Given the description of an element on the screen output the (x, y) to click on. 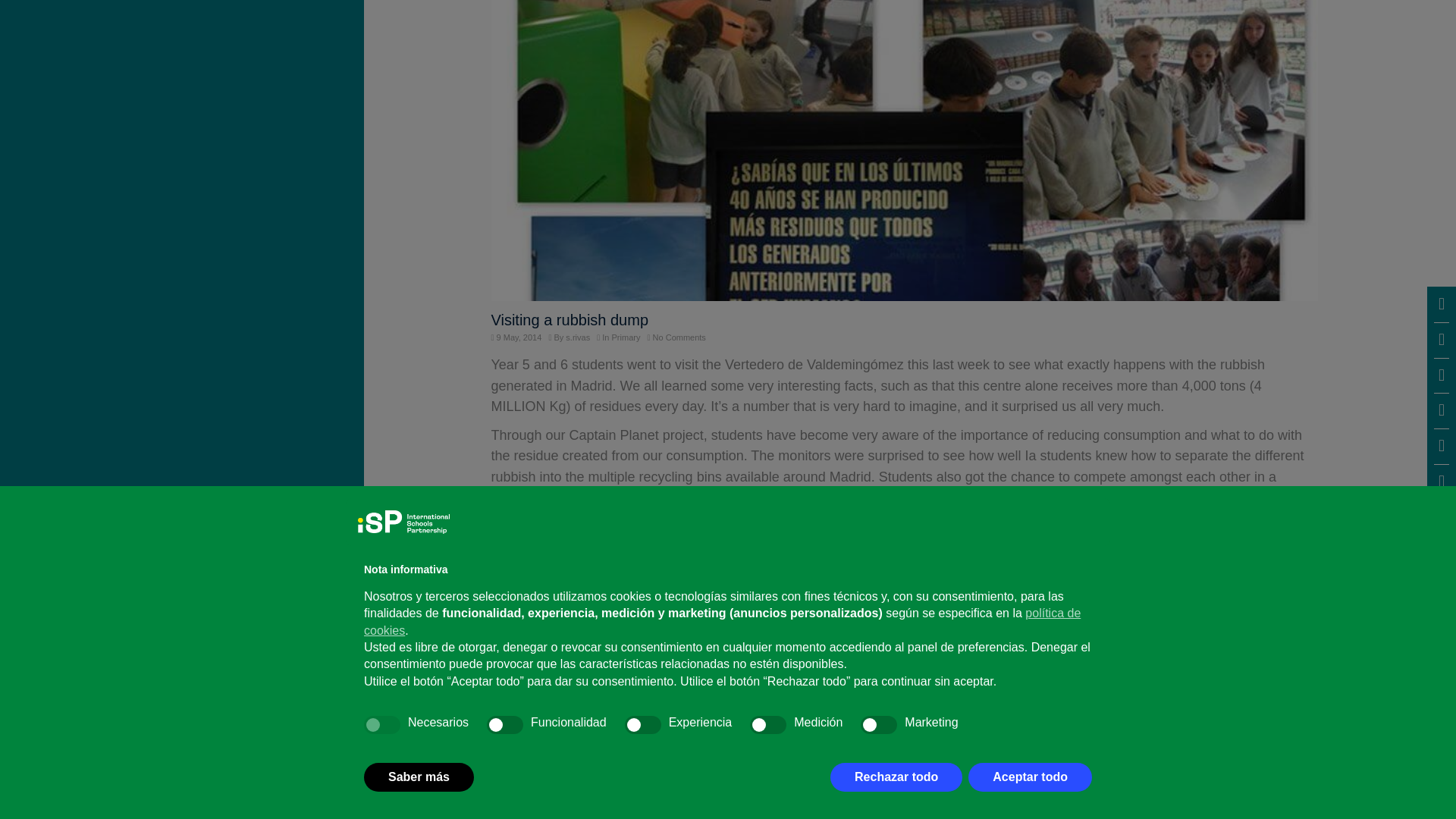
false (642, 541)
false (504, 541)
true (382, 541)
false (767, 541)
false (878, 541)
